Given the description of an element on the screen output the (x, y) to click on. 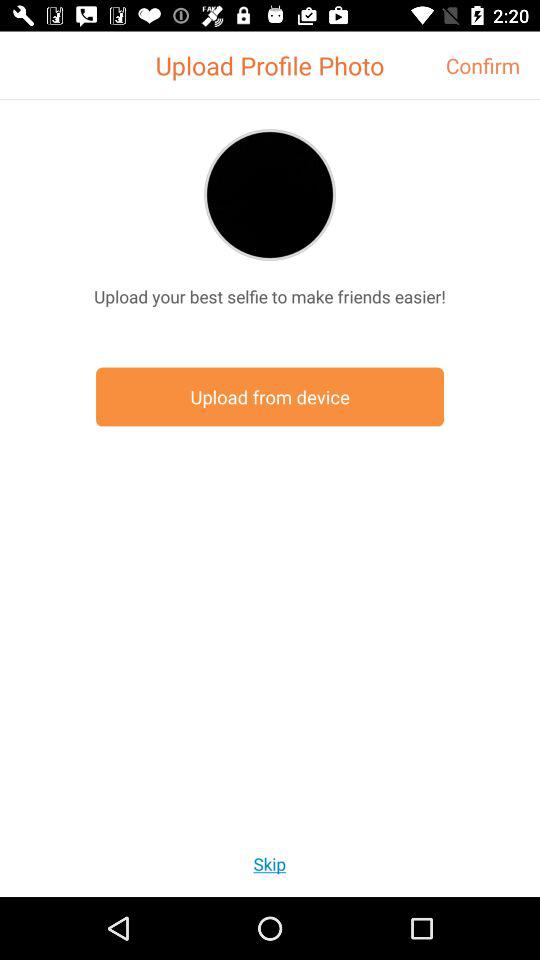
view profile photo (269, 194)
